Given the description of an element on the screen output the (x, y) to click on. 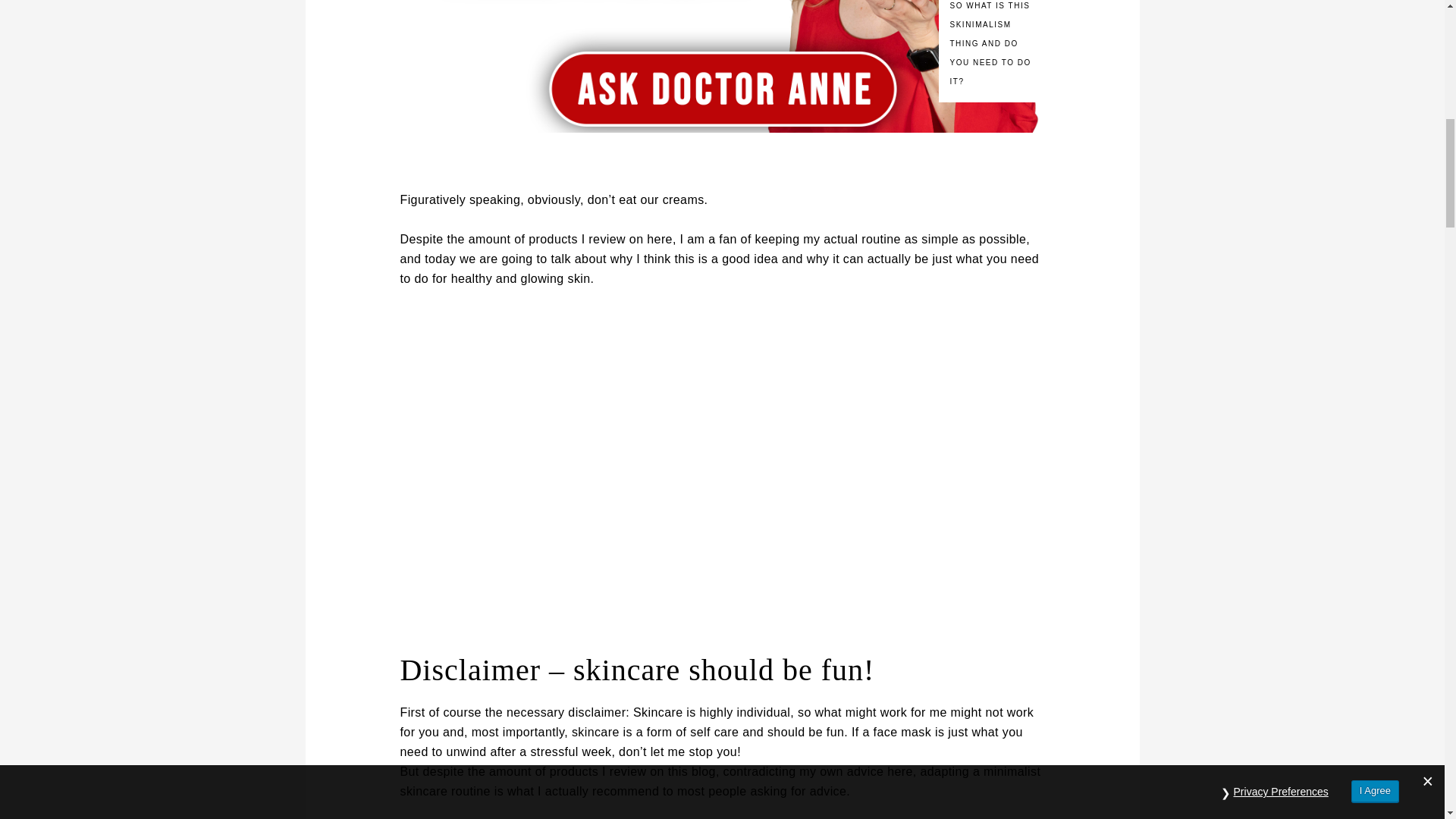
YouTube video player (611, 467)
